Given the description of an element on the screen output the (x, y) to click on. 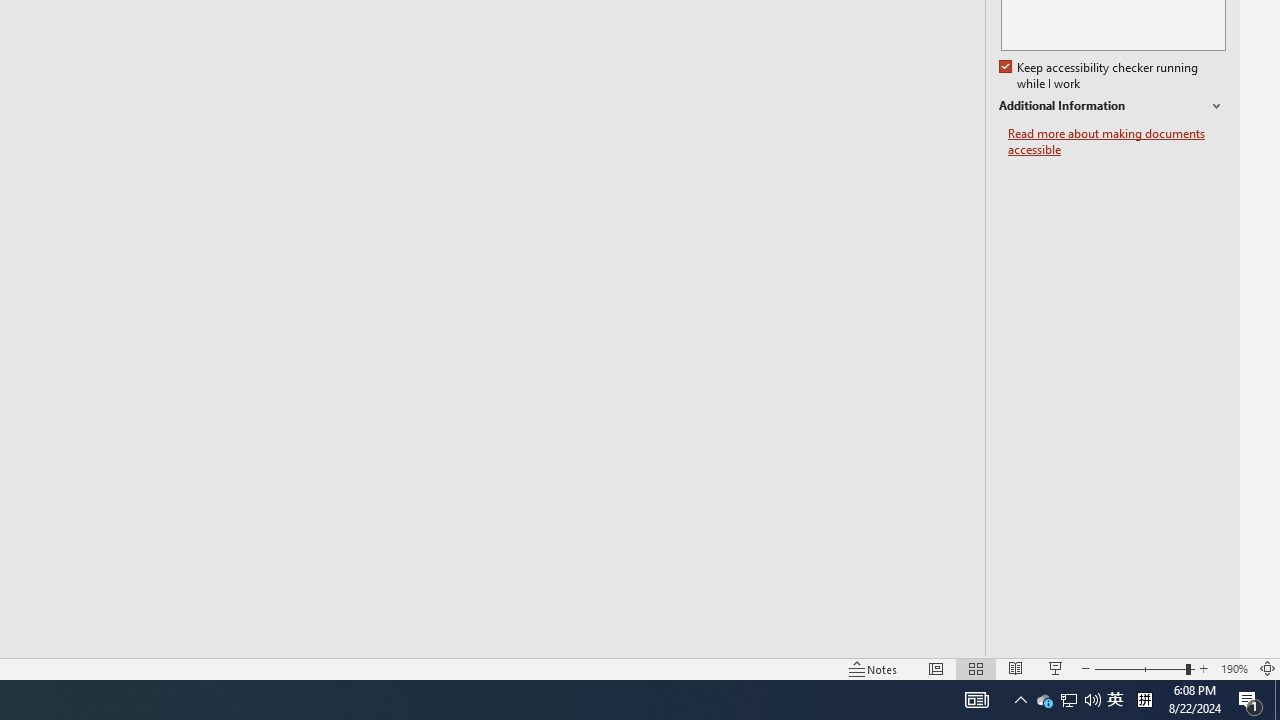
Zoom 190% (1234, 668)
